Given the description of an element on the screen output the (x, y) to click on. 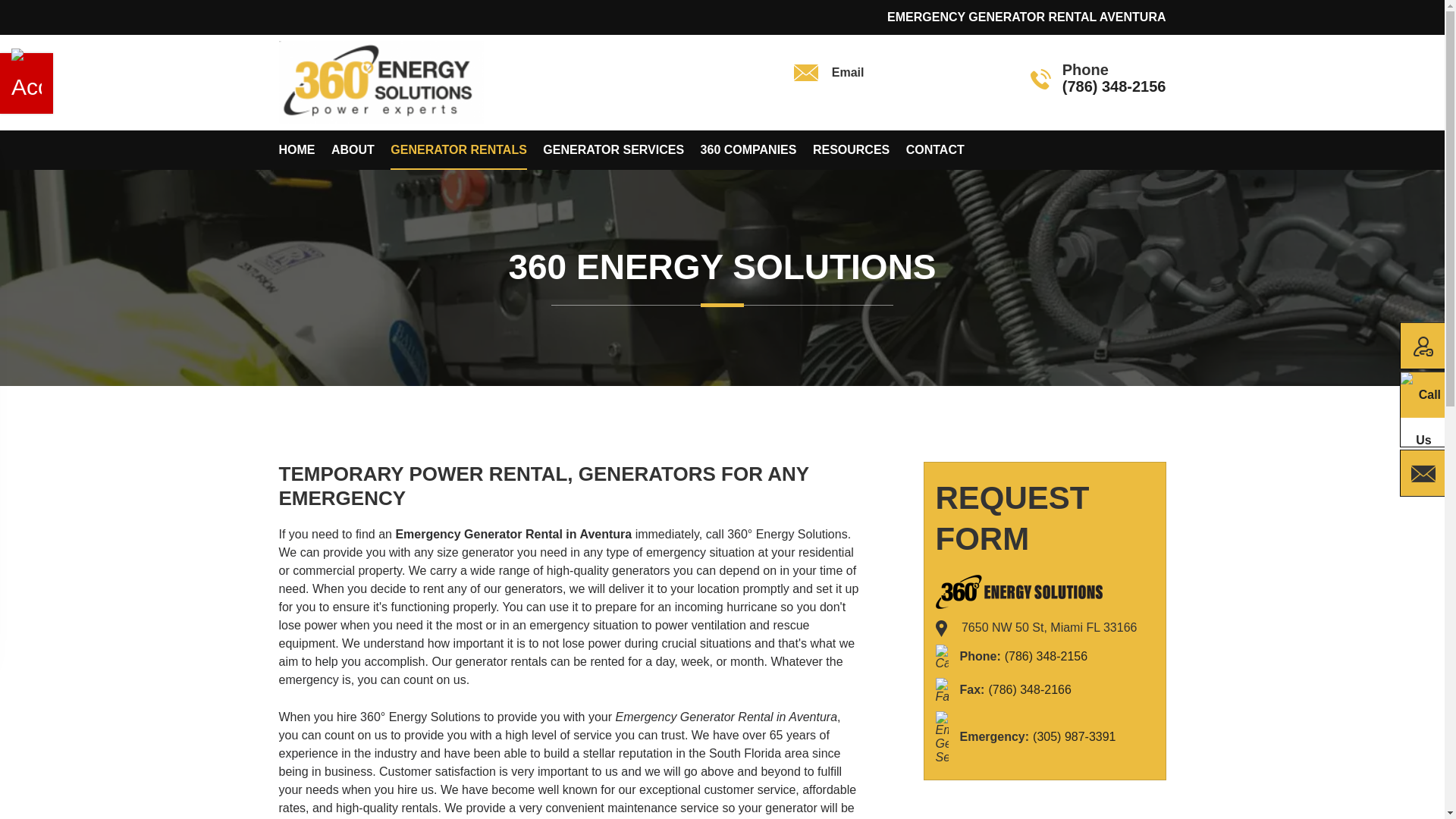
360 COMPANIES (748, 149)
RESOURCES (850, 149)
ABOUT (352, 149)
GENERATOR RENTALS (458, 149)
HOME (297, 149)
Email (891, 79)
GENERATOR SERVICES (613, 149)
